Given the description of an element on the screen output the (x, y) to click on. 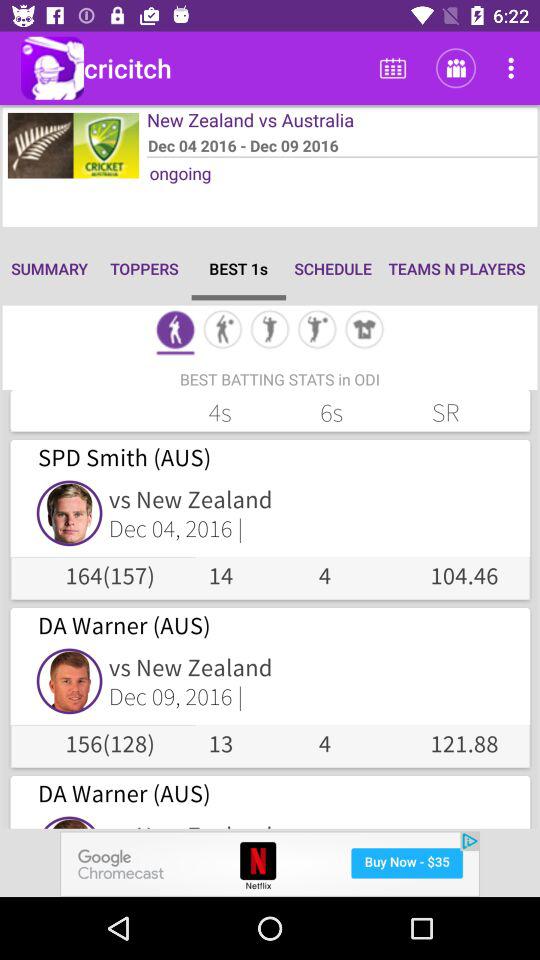
go to pitching (269, 331)
